Given the description of an element on the screen output the (x, y) to click on. 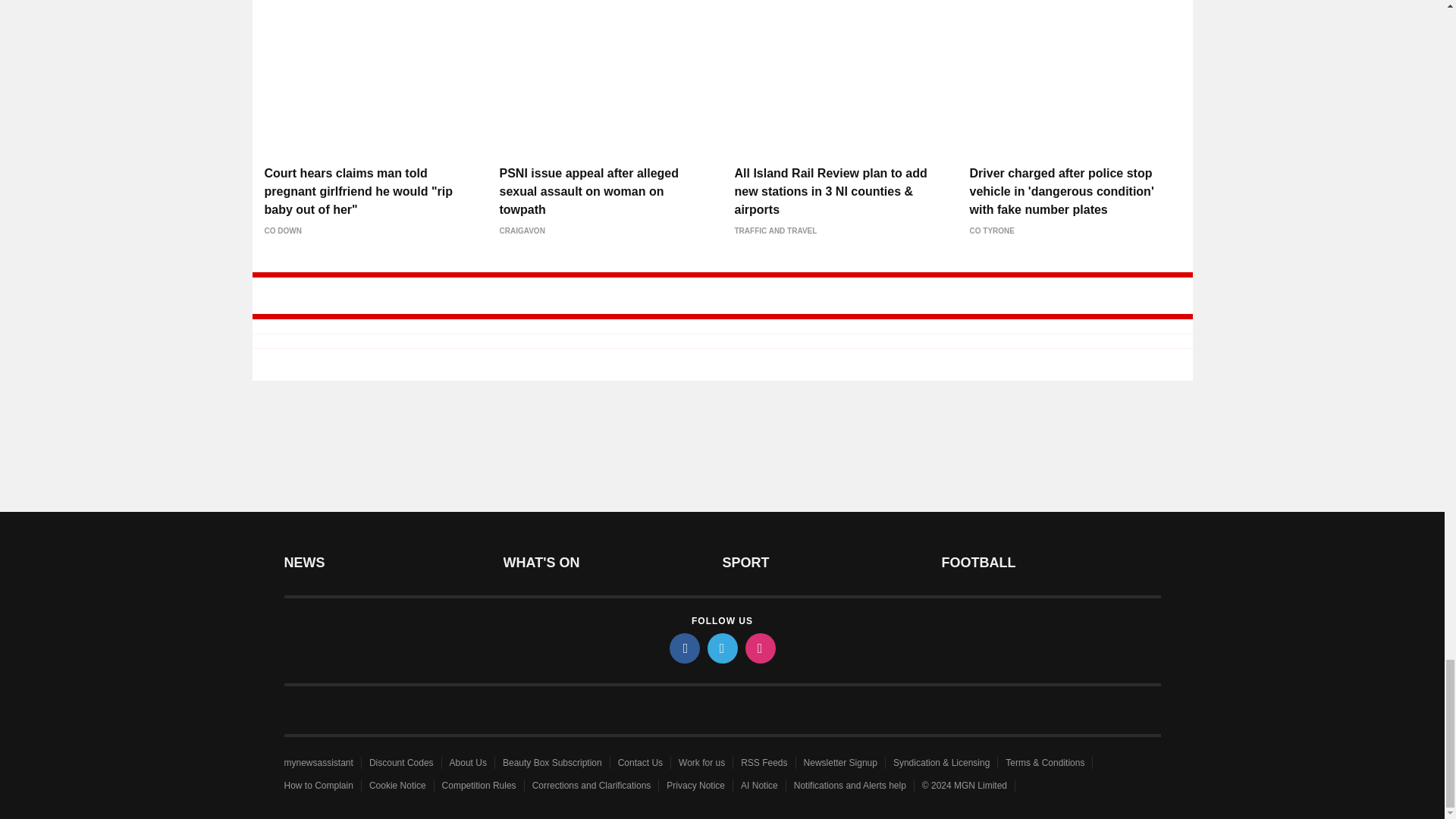
facebook (683, 648)
instagram (759, 648)
twitter (721, 648)
